Given the description of an element on the screen output the (x, y) to click on. 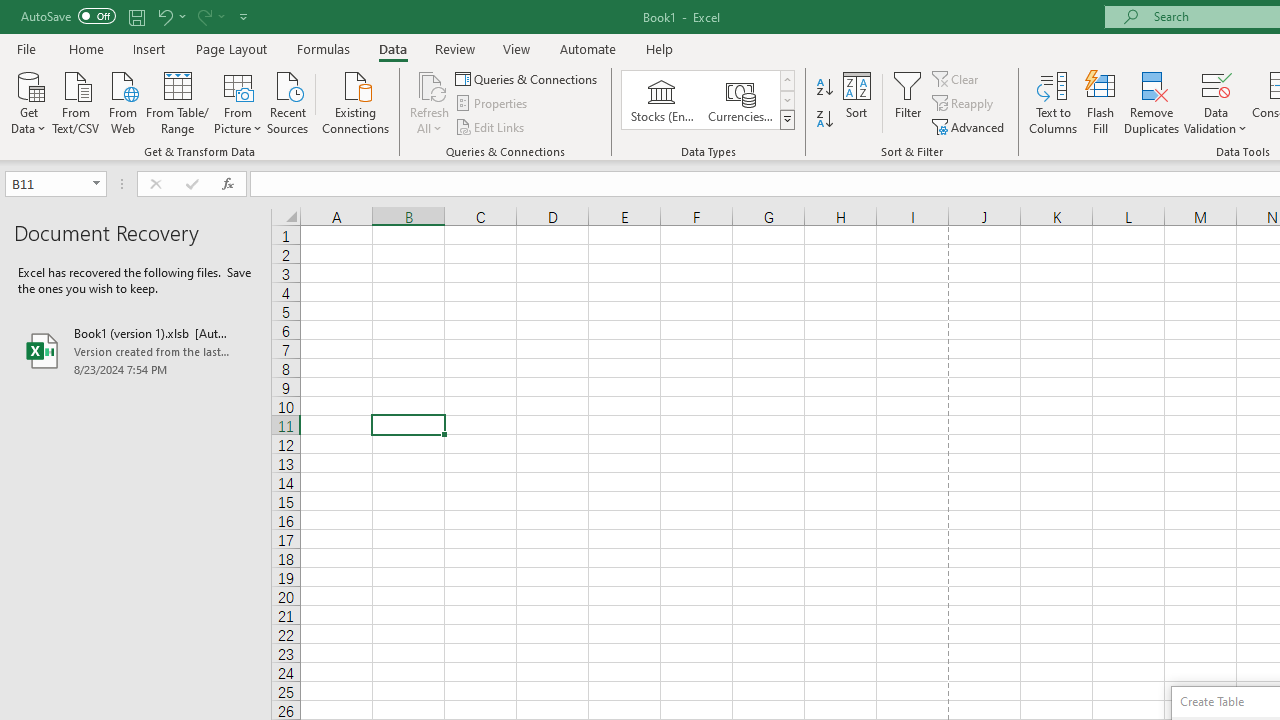
Row Down (786, 100)
Sort Z to A (824, 119)
Automate (588, 48)
Reapply (964, 103)
Row up (786, 79)
Data Types (786, 120)
Clear (957, 78)
Text to Columns... (1053, 102)
